Given the description of an element on the screen output the (x, y) to click on. 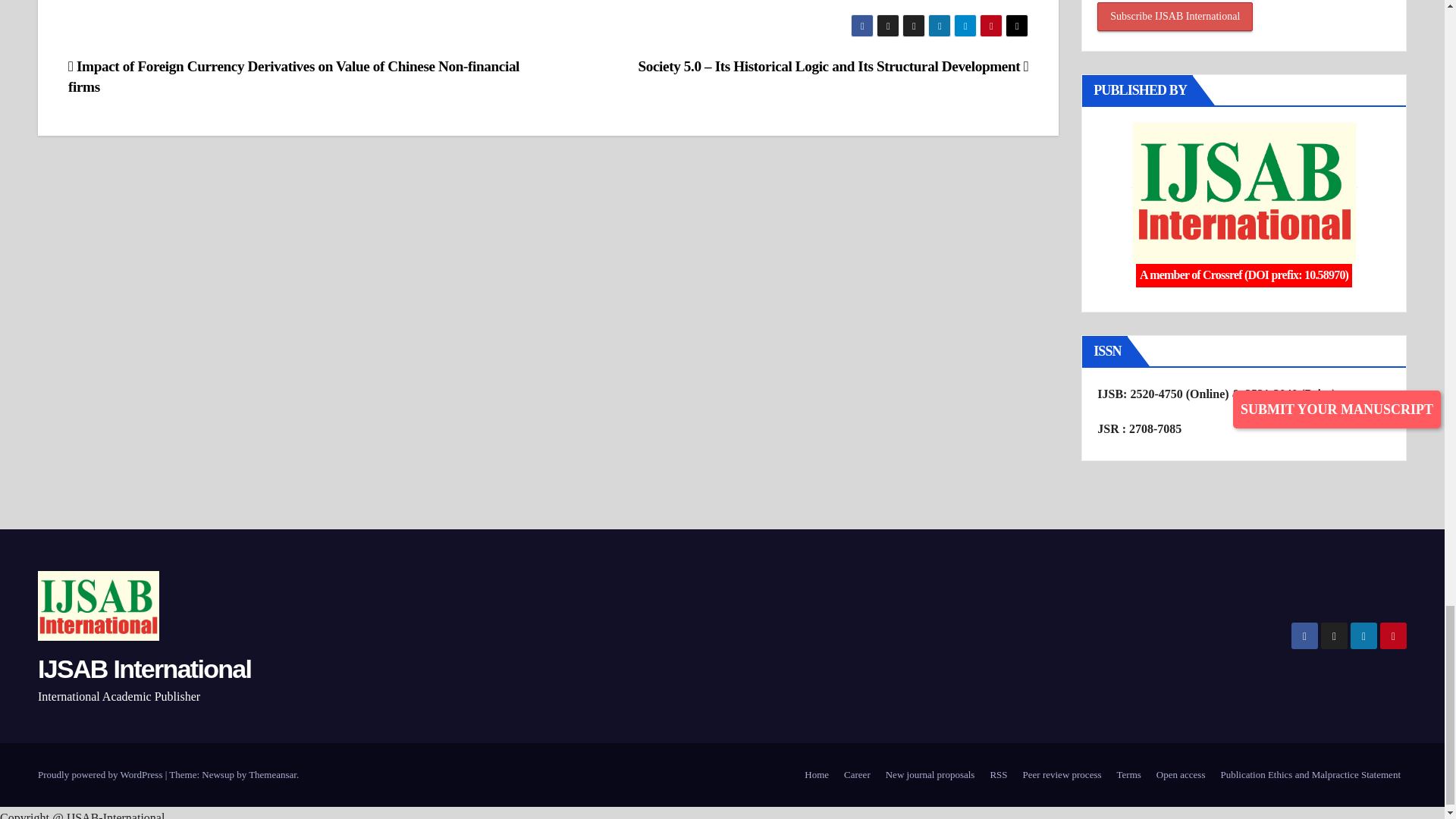
Subscribe IJSAB International (1174, 16)
